Given the description of an element on the screen output the (x, y) to click on. 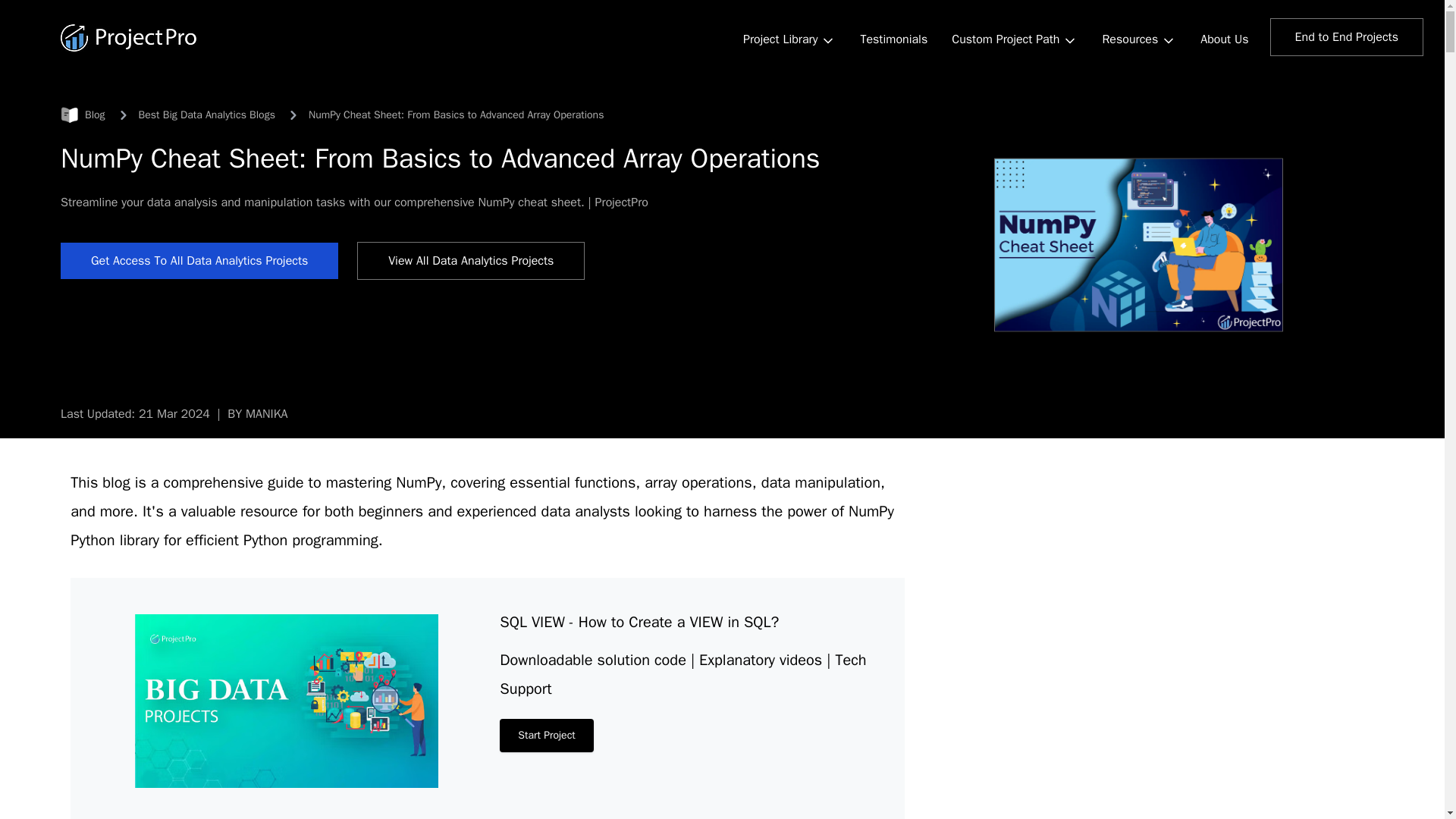
Testimonials (893, 39)
Blog (82, 115)
Get Access To All Data Analytics Projects (199, 260)
Blog (82, 115)
Best Big Data Analytics Blogs (206, 114)
View All Data Analytics Projects (470, 260)
View all Data Analytics Projects (470, 260)
End to End Projects (1346, 37)
Customer Testimonials (893, 39)
End to End Projects (1346, 37)
Resources (1138, 40)
Get access to all Data Analytics Projects (199, 260)
projectpro logo (128, 37)
About Us (1224, 39)
About us (1224, 39)
